Given the description of an element on the screen output the (x, y) to click on. 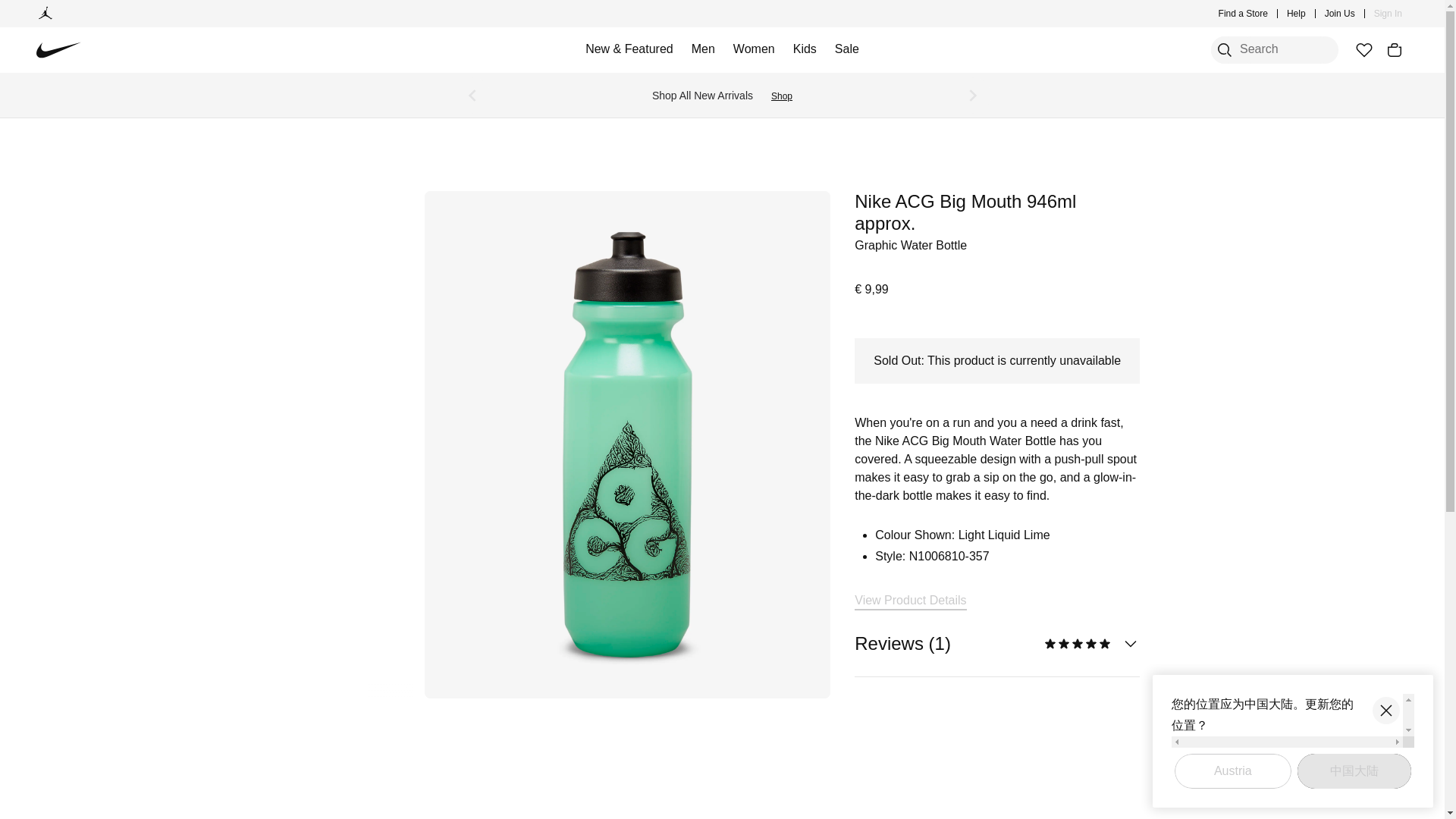
Find a Store (1243, 13)
Favourites (1364, 49)
5 Stars (1077, 644)
Bag Items: 0 (1393, 49)
Help (1296, 13)
Sign In (1388, 13)
Join Us (1339, 13)
